Given the description of an element on the screen output the (x, y) to click on. 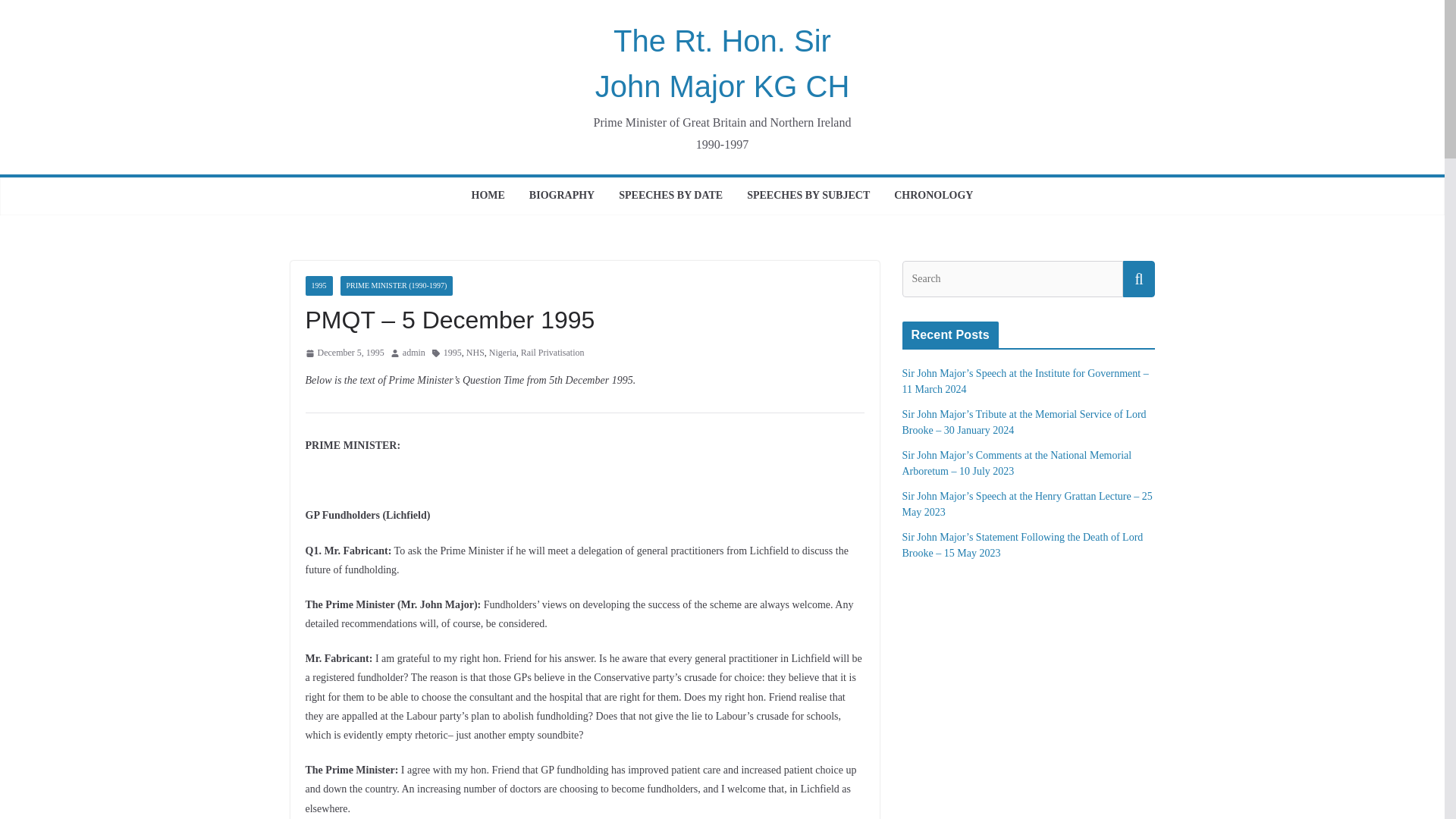
admin (414, 352)
1995 (317, 285)
SPEECHES BY DATE (670, 196)
Rail Privatisation (553, 352)
HOME (488, 196)
SPEECHES BY SUBJECT (807, 196)
BIOGRAPHY (561, 196)
1995 (452, 352)
Nigeria (502, 352)
4:34 pm (344, 352)
NHS (474, 352)
The Rt. Hon. Sir John Major KG CH (722, 63)
December 5, 1995 (344, 352)
CHRONOLOGY (932, 196)
admin (414, 352)
